Given the description of an element on the screen output the (x, y) to click on. 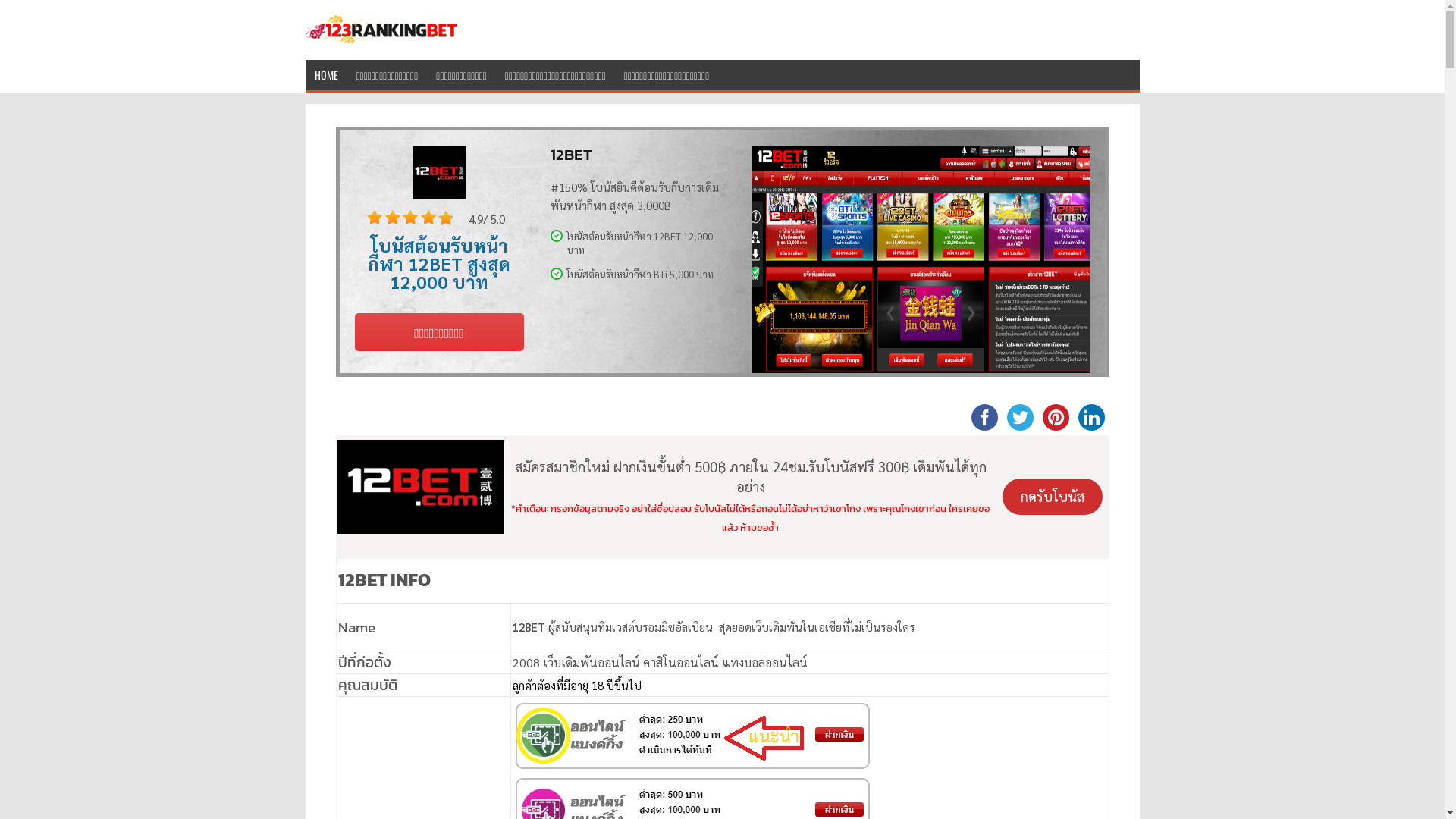
Twitter Element type: hover (1020, 416)
Pinterest Element type: hover (1055, 416)
HOME Element type: text (325, 74)
Facebook Element type: hover (983, 416)
LinkedIn Element type: hover (1091, 416)
